Given the description of an element on the screen output the (x, y) to click on. 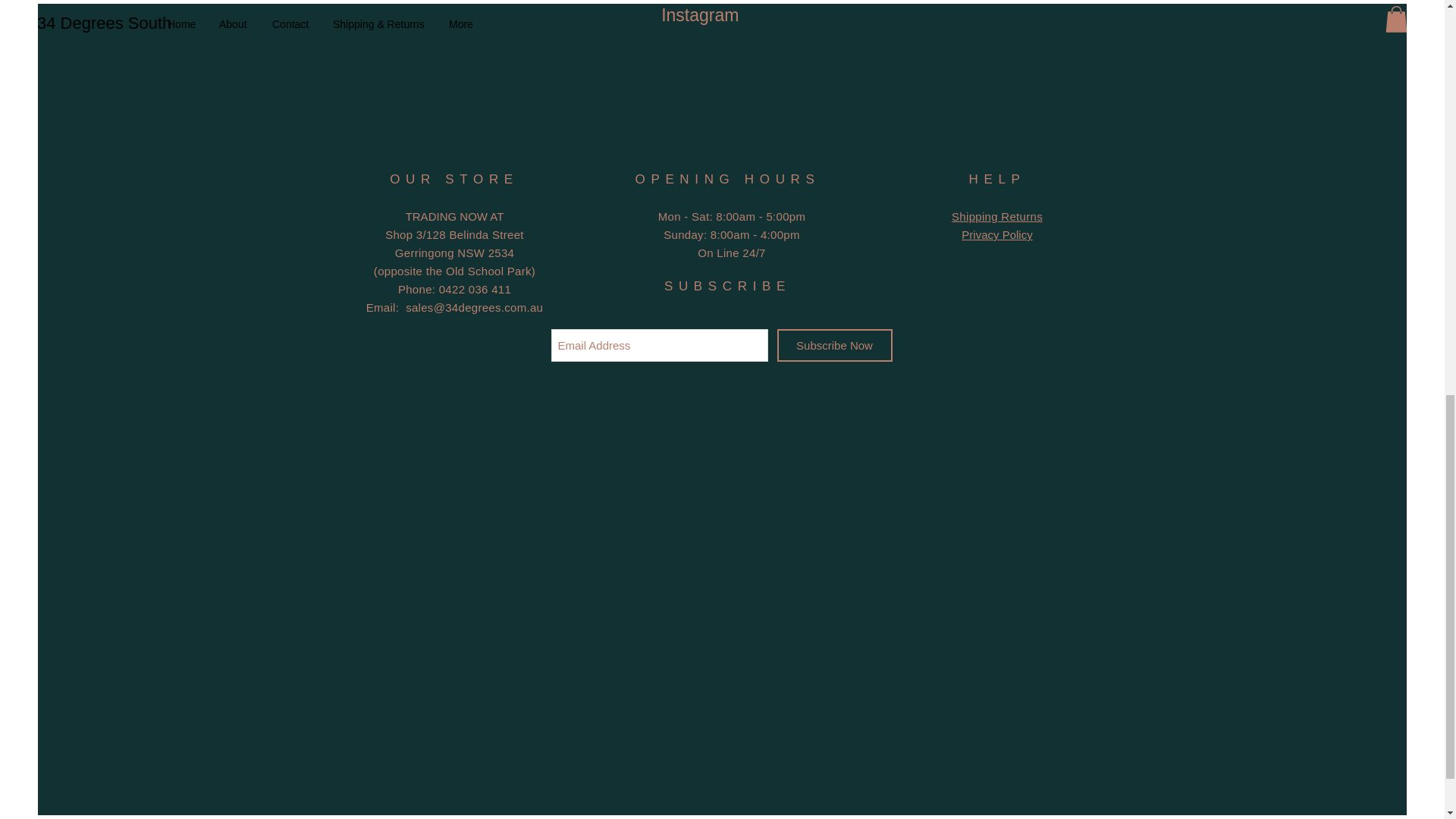
Privacy Policy (996, 234)
Subscribe Now (734, 224)
Shipping Returns (833, 345)
Mon - Sat (997, 215)
